Given the description of an element on the screen output the (x, y) to click on. 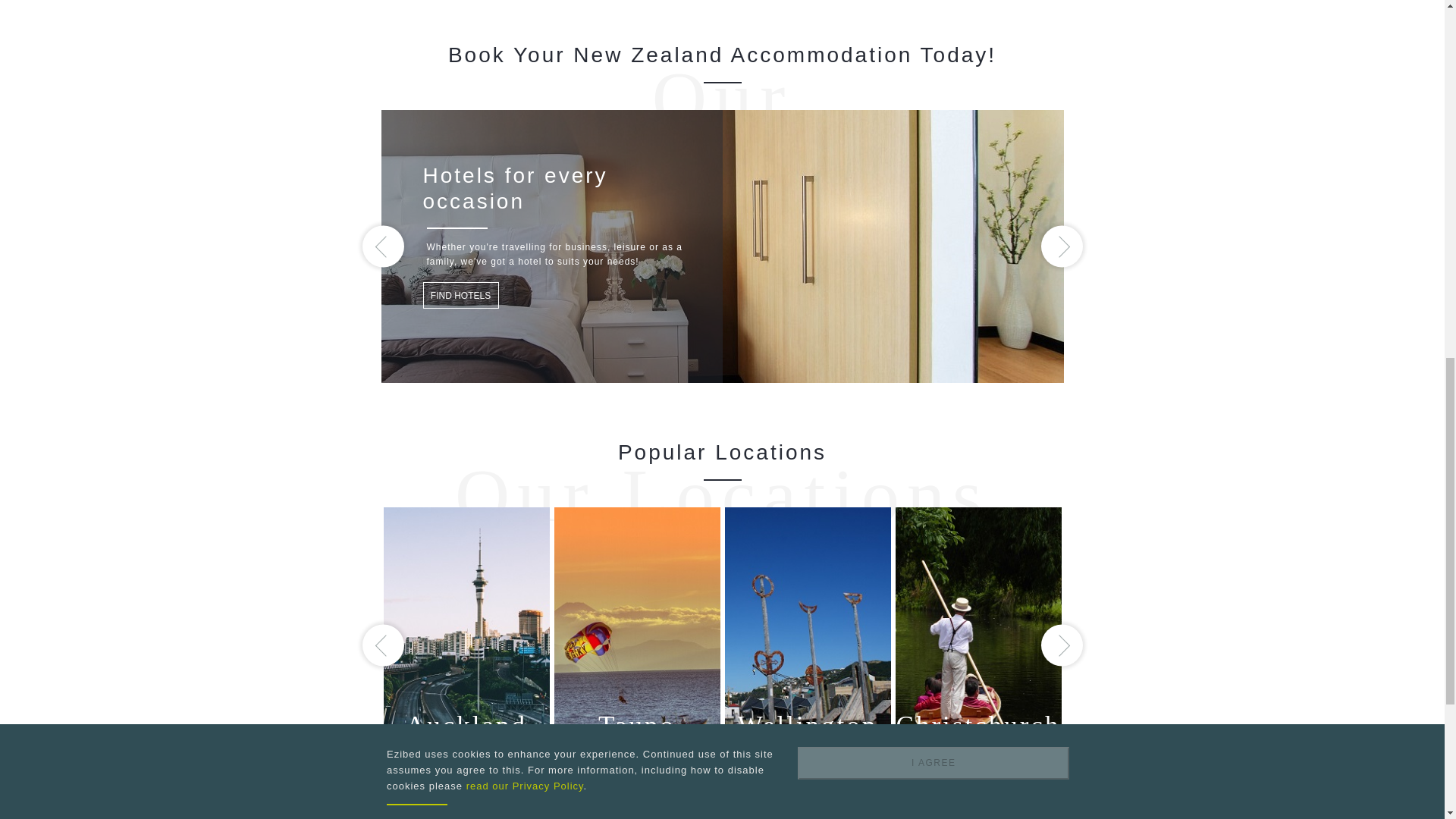
Previous (383, 246)
Next (1061, 246)
FIND HOTELS (461, 294)
